Given the description of an element on the screen output the (x, y) to click on. 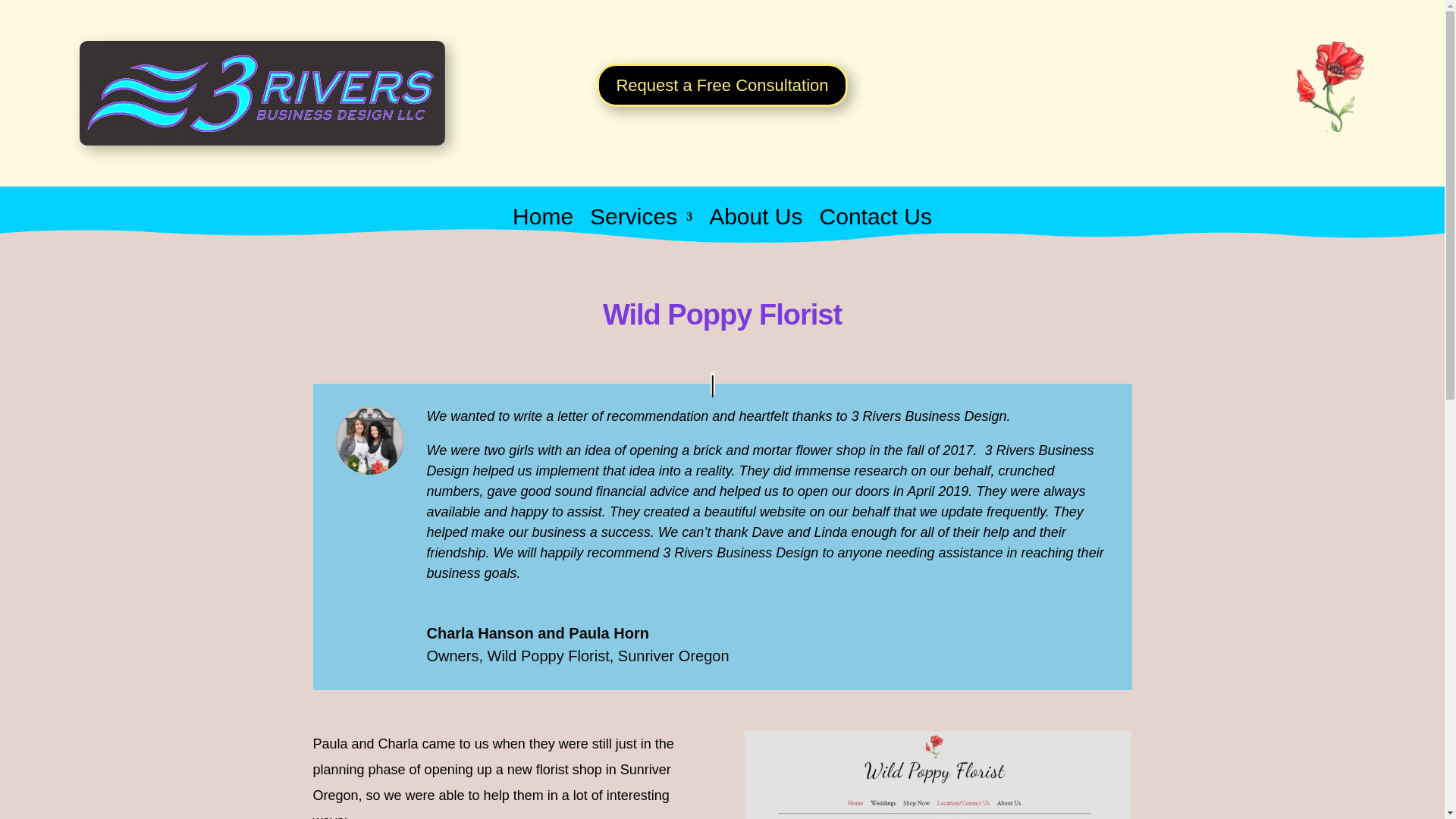
Wild Poppy Florist 1 (262, 92)
Request a Free Consultation (721, 85)
Services (641, 227)
Wild Poppy Florist 3 (937, 775)
Contact Us (875, 227)
Home (542, 227)
About Us (755, 227)
